Given the description of an element on the screen output the (x, y) to click on. 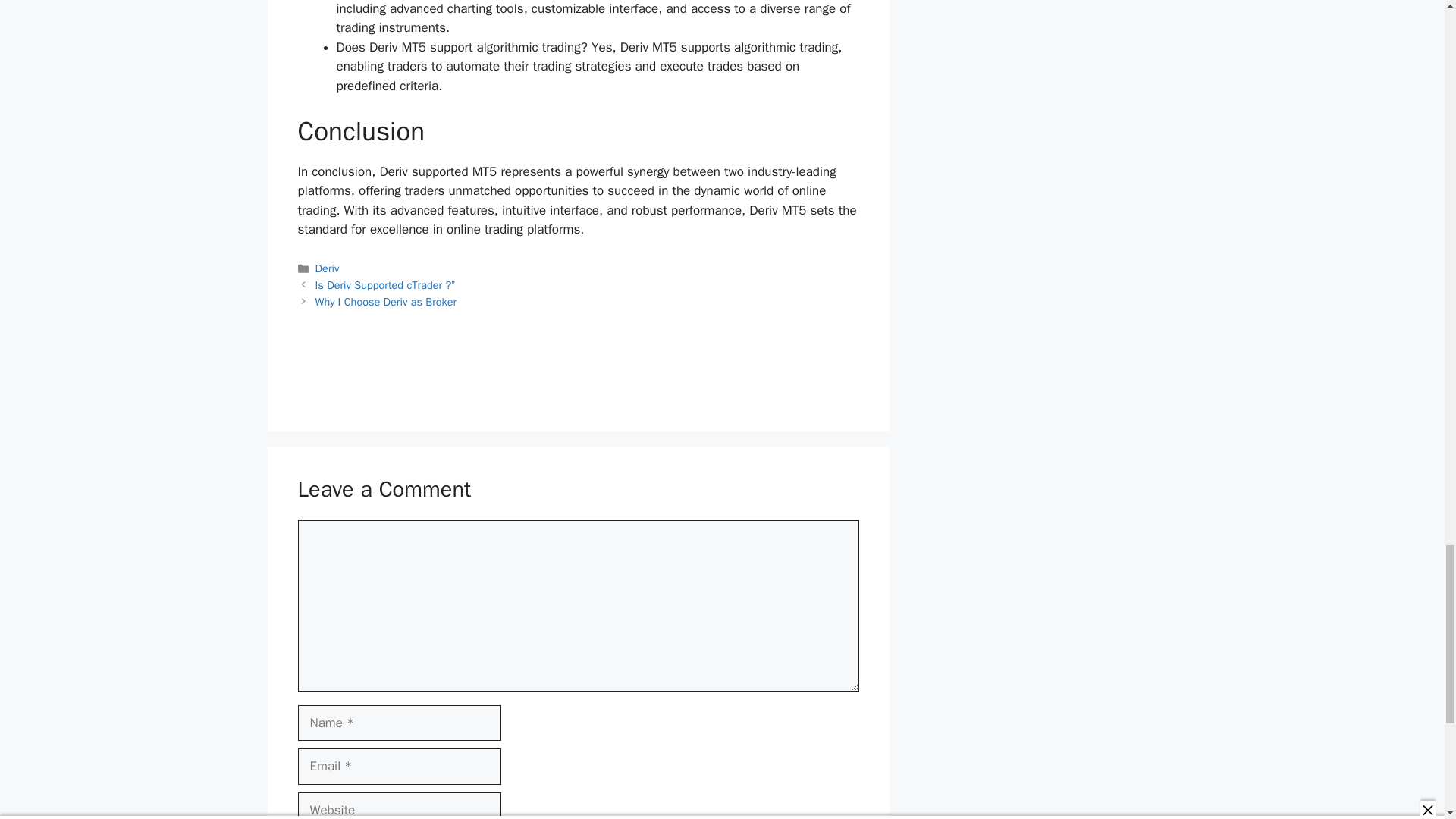
Deriv (327, 268)
Why I Choose Deriv as Broker (386, 301)
